Given the description of an element on the screen output the (x, y) to click on. 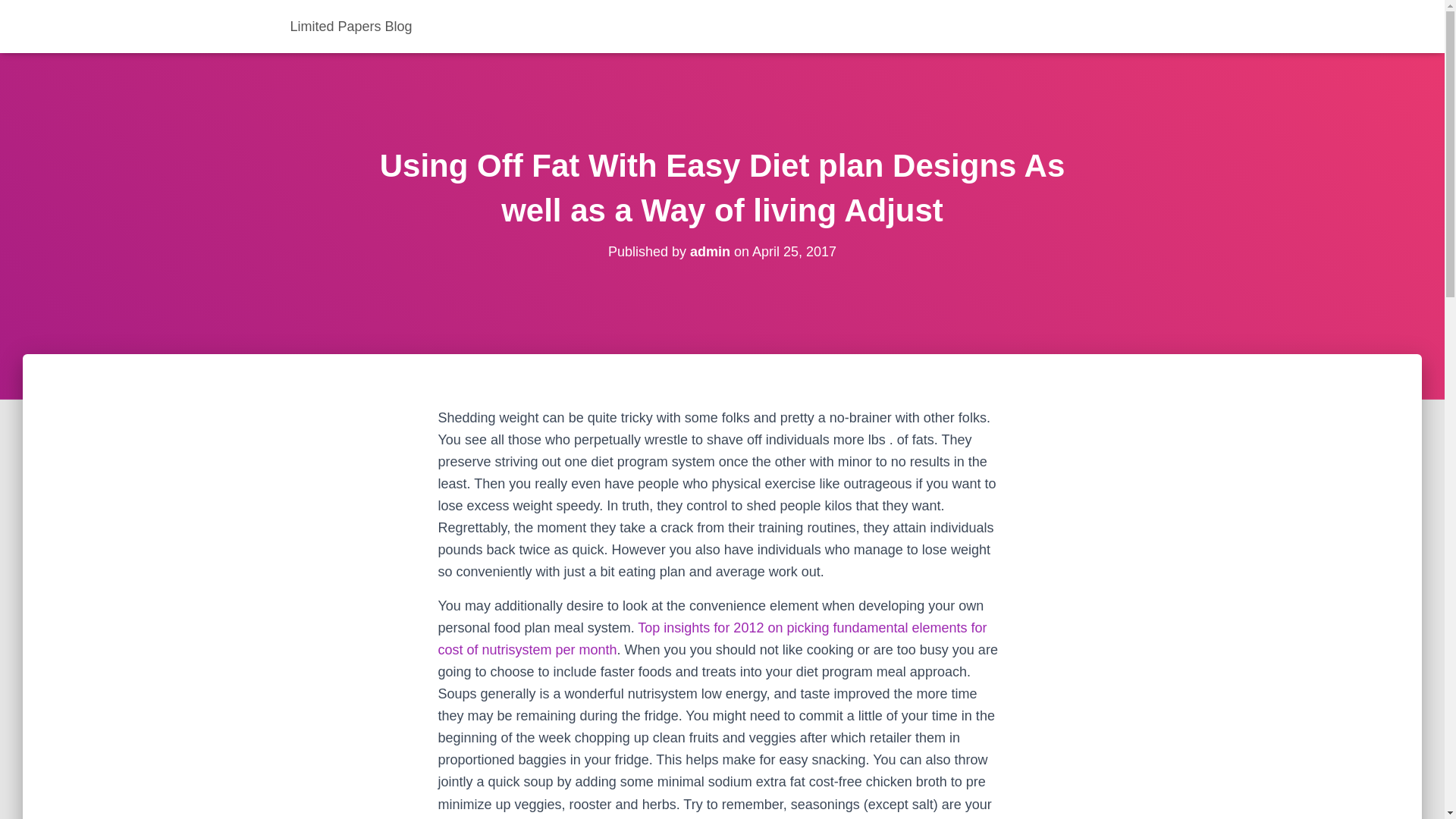
Limited Papers Blog (351, 26)
Limited Papers Blog (351, 26)
admin (710, 251)
